Given the description of an element on the screen output the (x, y) to click on. 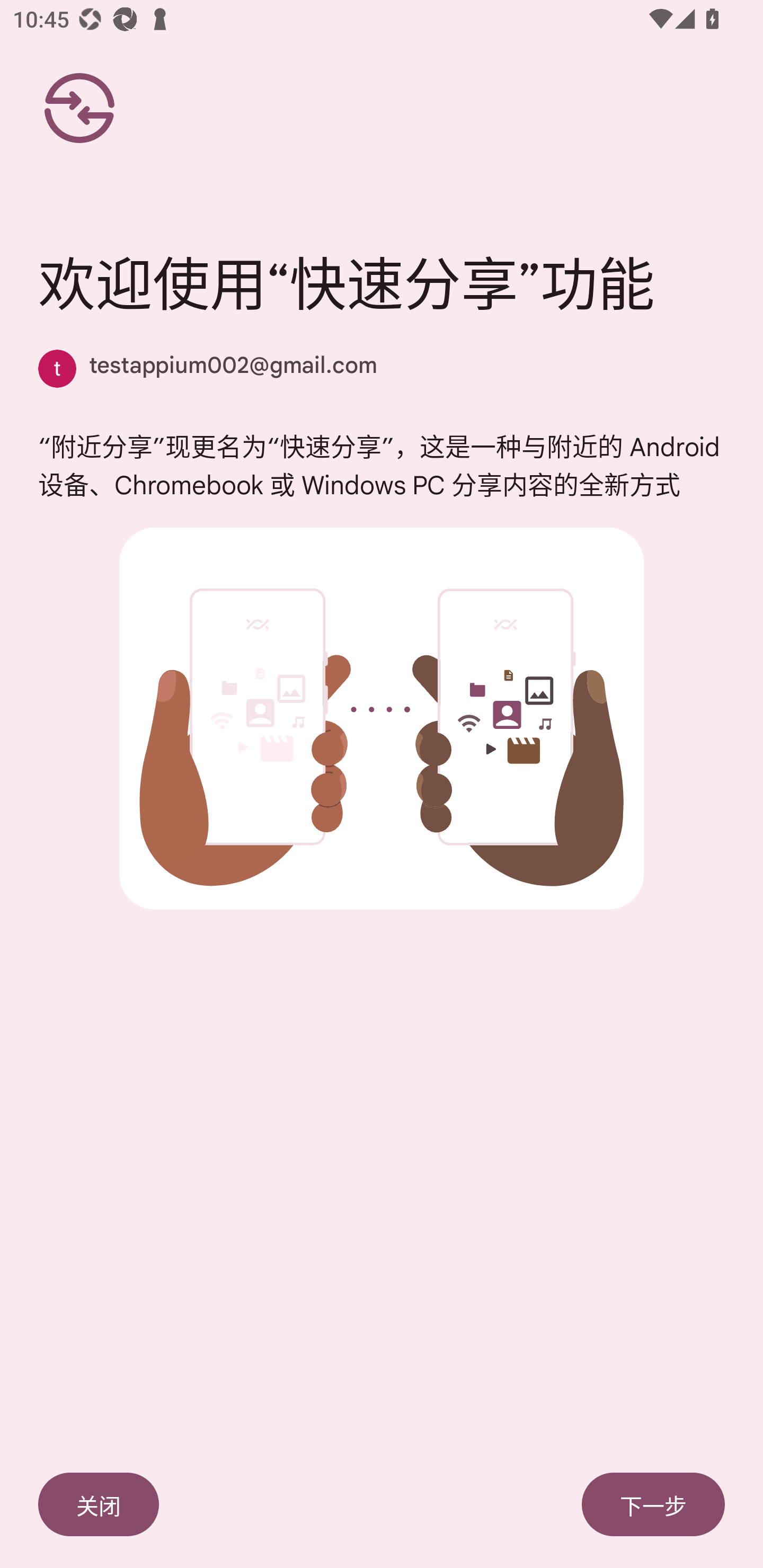
关闭 (98, 1504)
下一步 (652, 1504)
